Given the description of an element on the screen output the (x, y) to click on. 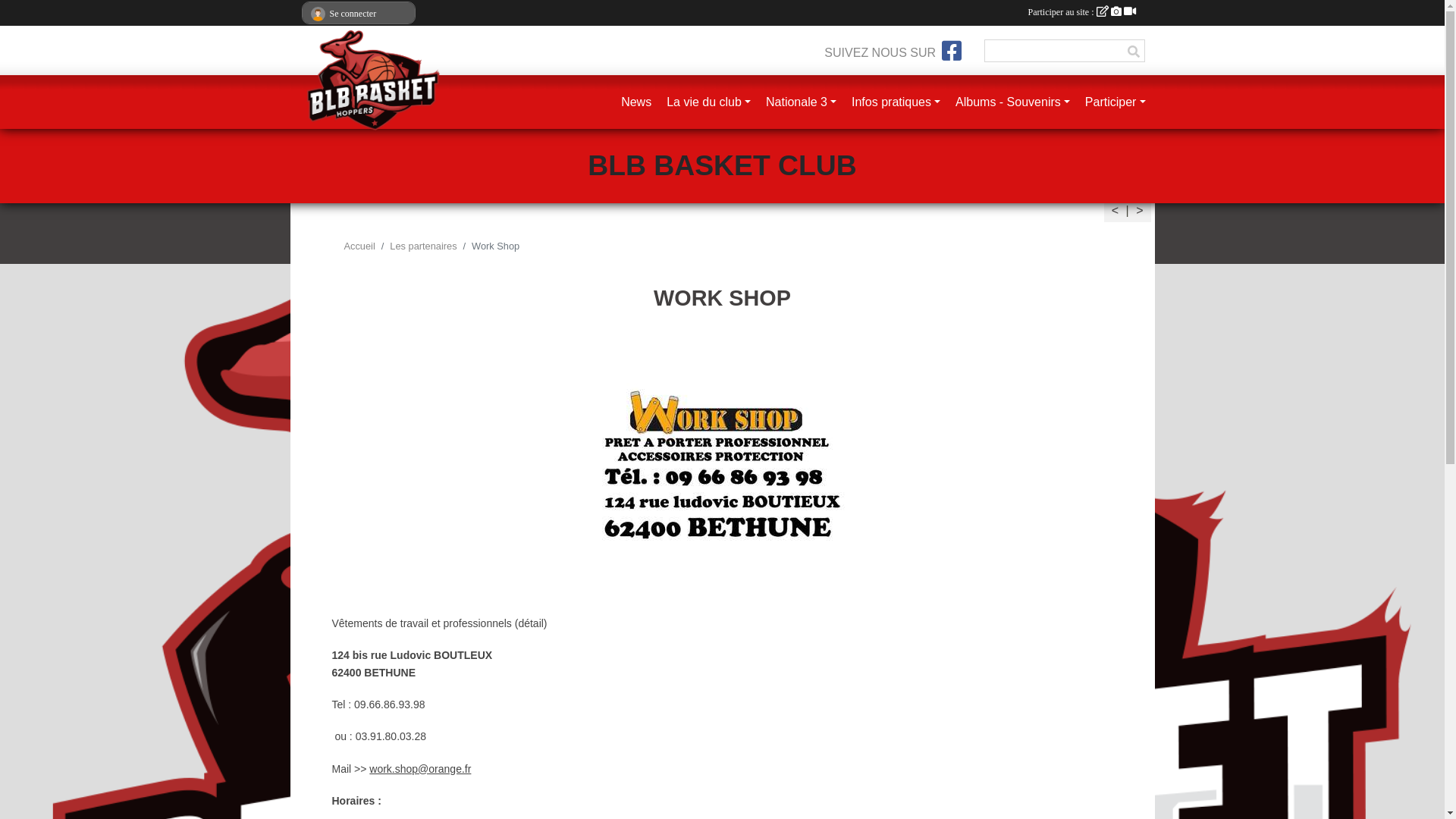
Les partenaires Element type: text (422, 245)
work.shop@orange.fr Element type: text (419, 768)
Participer au site : Element type: text (1081, 11)
Infos pratiques Element type: text (895, 101)
Albums - Souvenirs Element type: text (1012, 101)
> Element type: text (1139, 209)
La vie du club Element type: text (708, 101)
Se connecter Element type: text (357, 13)
Accueil Element type: text (359, 245)
< Element type: text (1114, 209)
Page Facebook de l'association Element type: hover (951, 50)
News Element type: text (636, 101)
Nationale 3 Element type: text (800, 101)
Participer Element type: text (1115, 101)
Work Shop Element type: hover (722, 466)
